Given the description of an element on the screen output the (x, y) to click on. 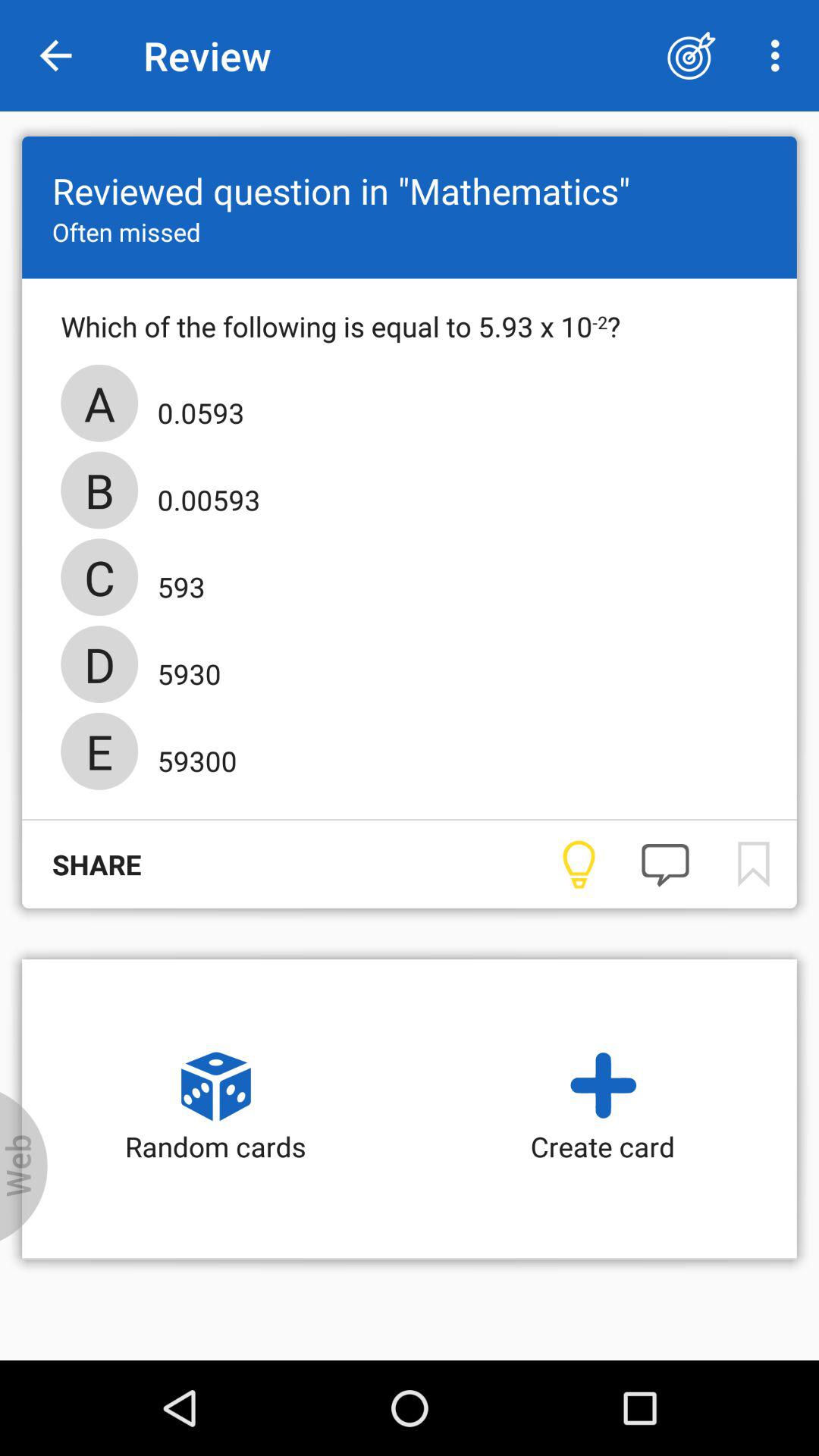
select share (81, 864)
